Given the description of an element on the screen output the (x, y) to click on. 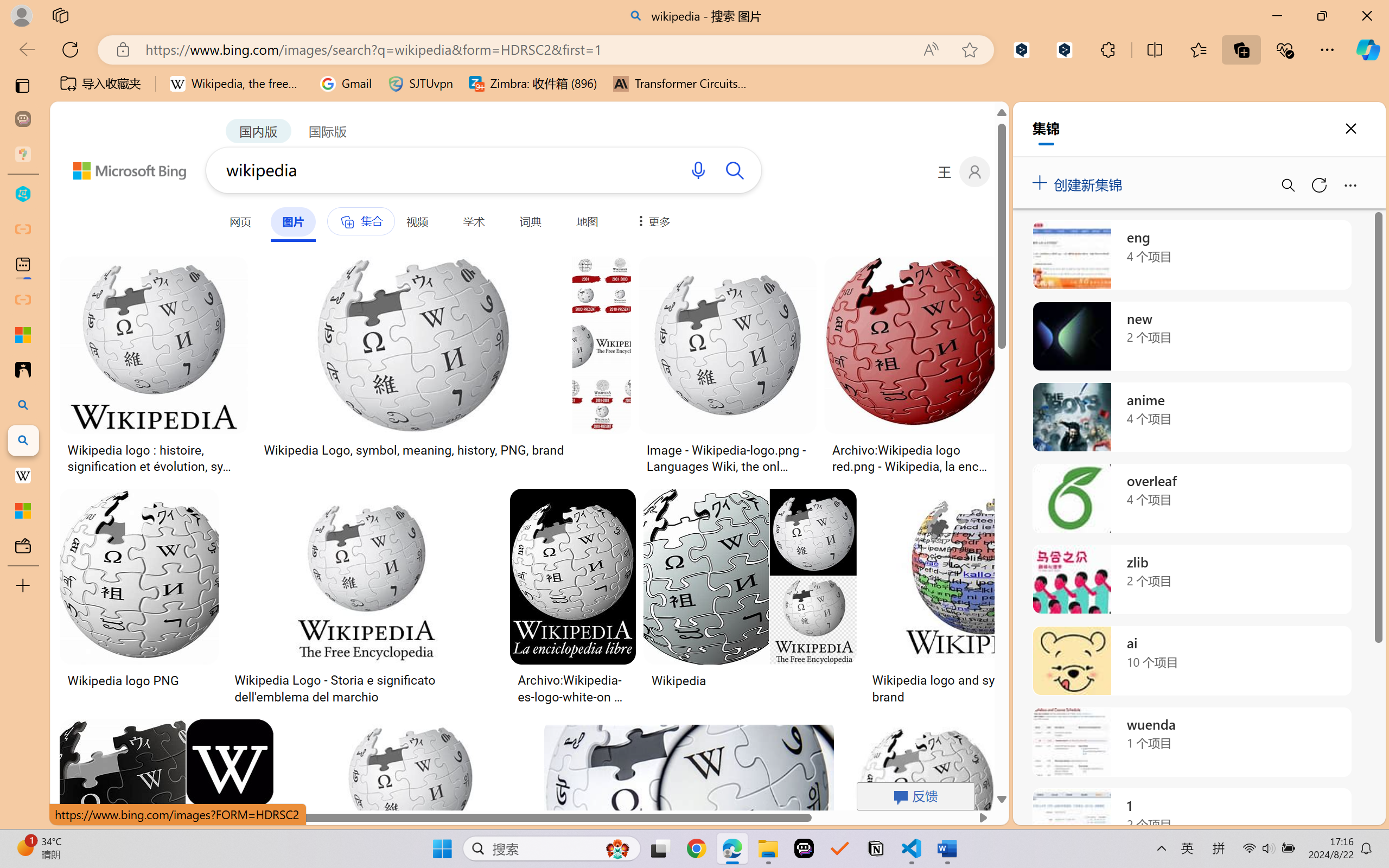
Wikipedia Logo, symbol, meaning, history, PNG, brand (442, 450)
Microsoft Rewards 13061 (1044, 171)
Wikipedia logo PNG (138, 680)
Wikipedia logo and symbol, meaning, history, PNG, brand (1026, 688)
Gmail (345, 83)
